Given the description of an element on the screen output the (x, y) to click on. 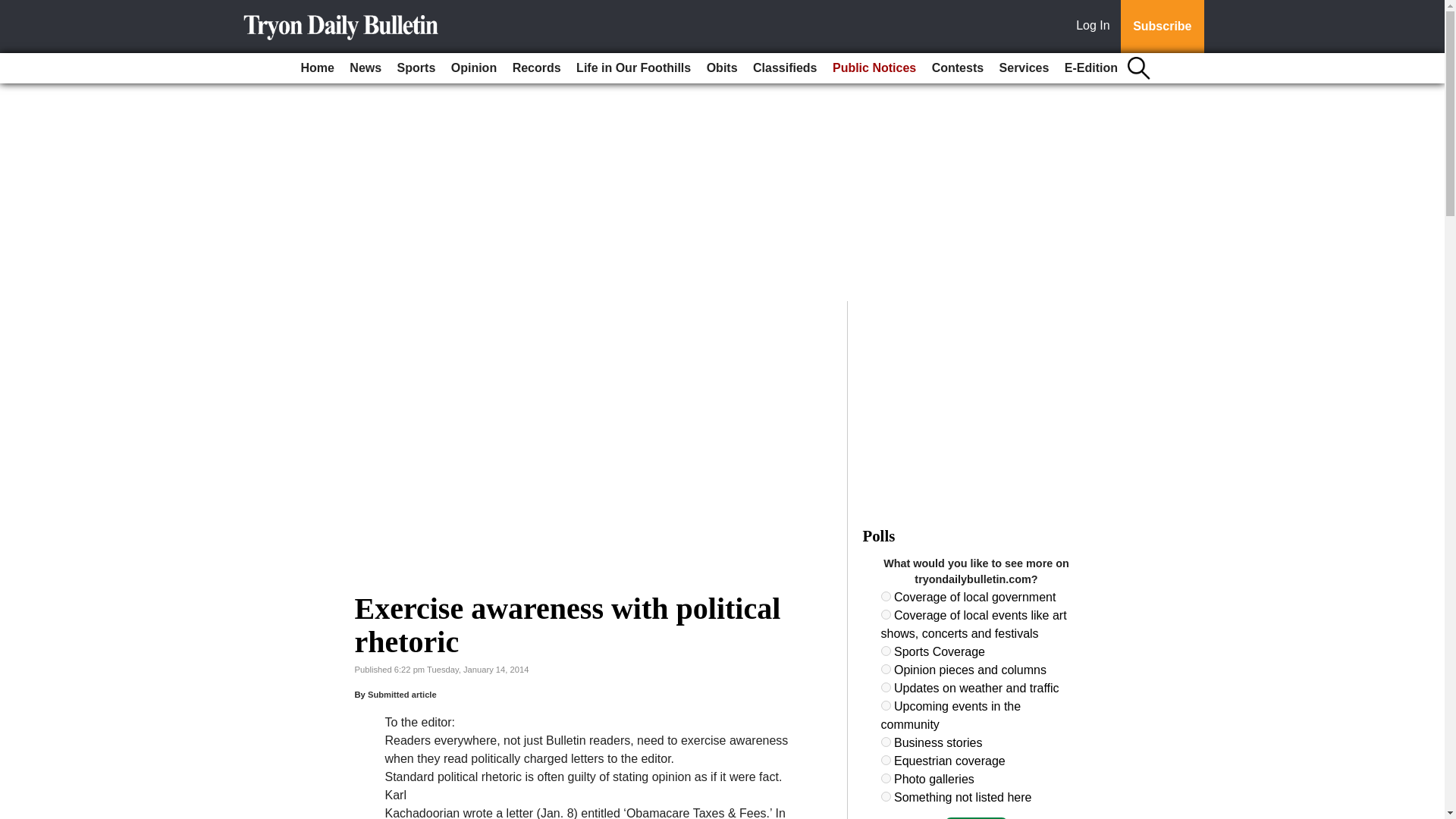
Log In (1095, 26)
Sports (416, 68)
1564 (885, 759)
Contests (958, 68)
Obits (722, 68)
Subscribe (1162, 26)
   Vote    (975, 818)
Public Notices (874, 68)
1561 (885, 687)
1563 (885, 741)
E-Edition (1091, 68)
Go (13, 9)
Life in Our Foothills (633, 68)
Opinion (473, 68)
Services (1023, 68)
